Given the description of an element on the screen output the (x, y) to click on. 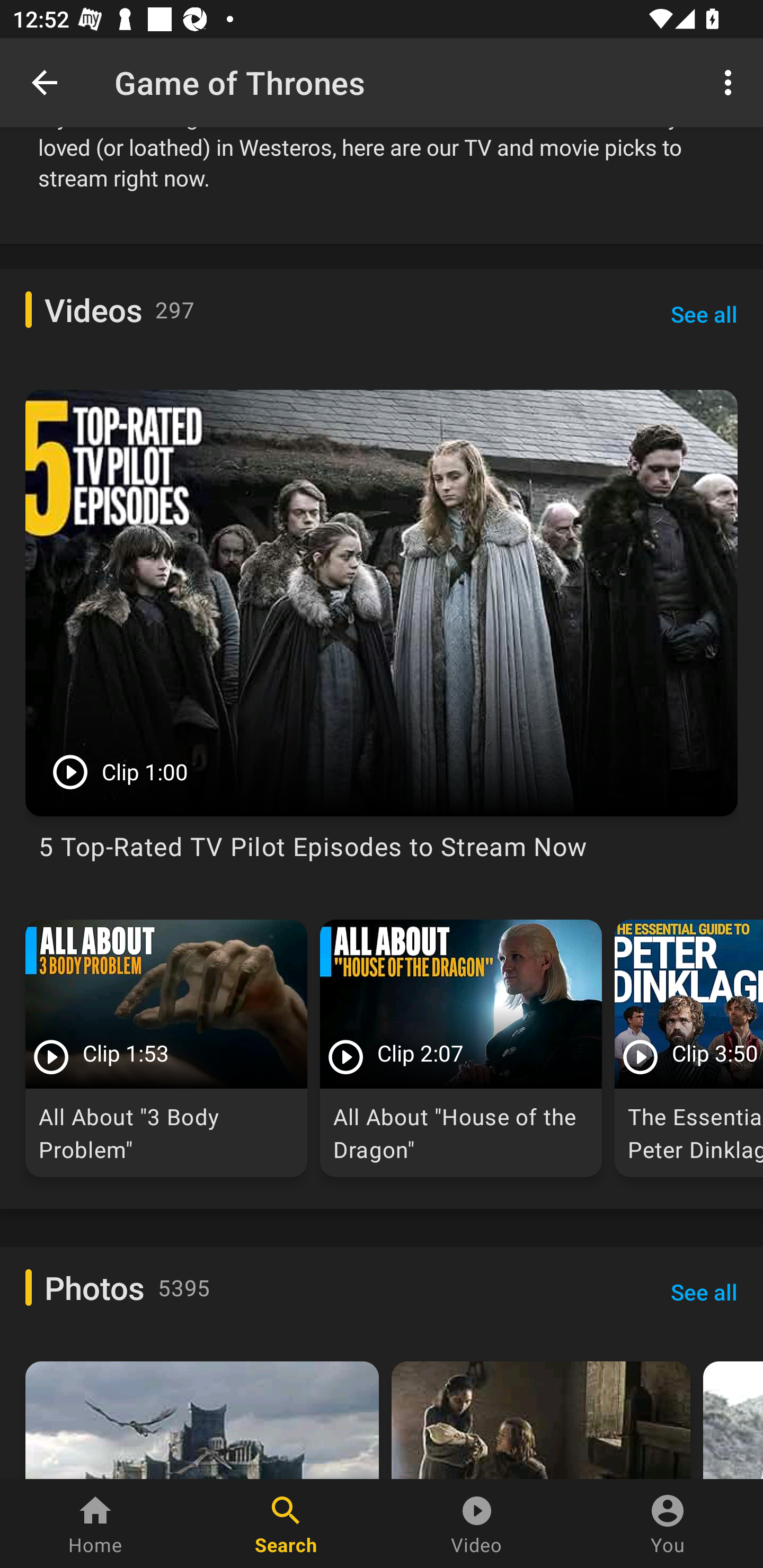
More options (731, 81)
See all See all Videos (703, 313)
Clip 1:53 All About "3 Body Problem" (166, 1047)
Clip 2:07 All About "House of the Dragon" (460, 1047)
Clip 3:50 The Essential Guide to Peter Dinklage (688, 1047)
See all See all Photos (703, 1291)
Home (95, 1523)
Video (476, 1523)
You (667, 1523)
